Given the description of an element on the screen output the (x, y) to click on. 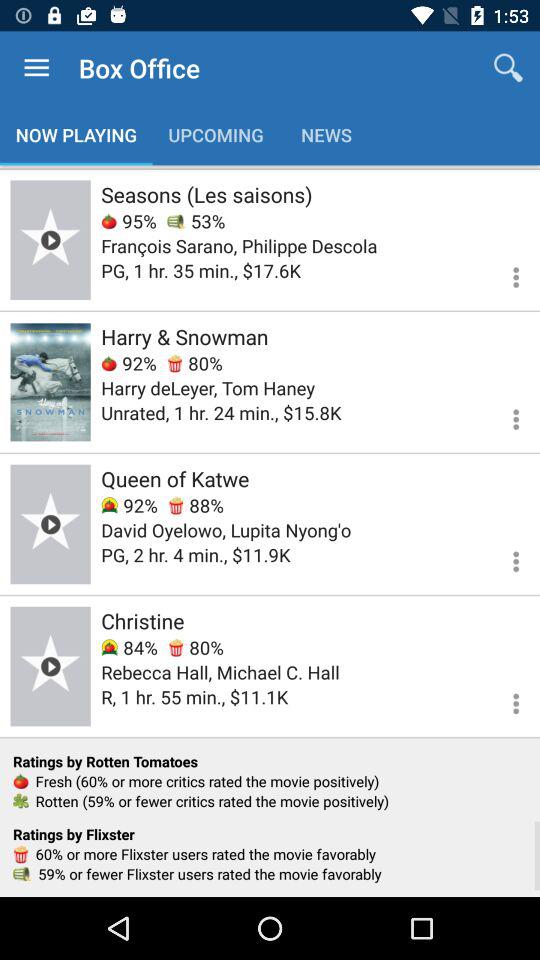
scroll to the 84% item (129, 647)
